Given the description of an element on the screen output the (x, y) to click on. 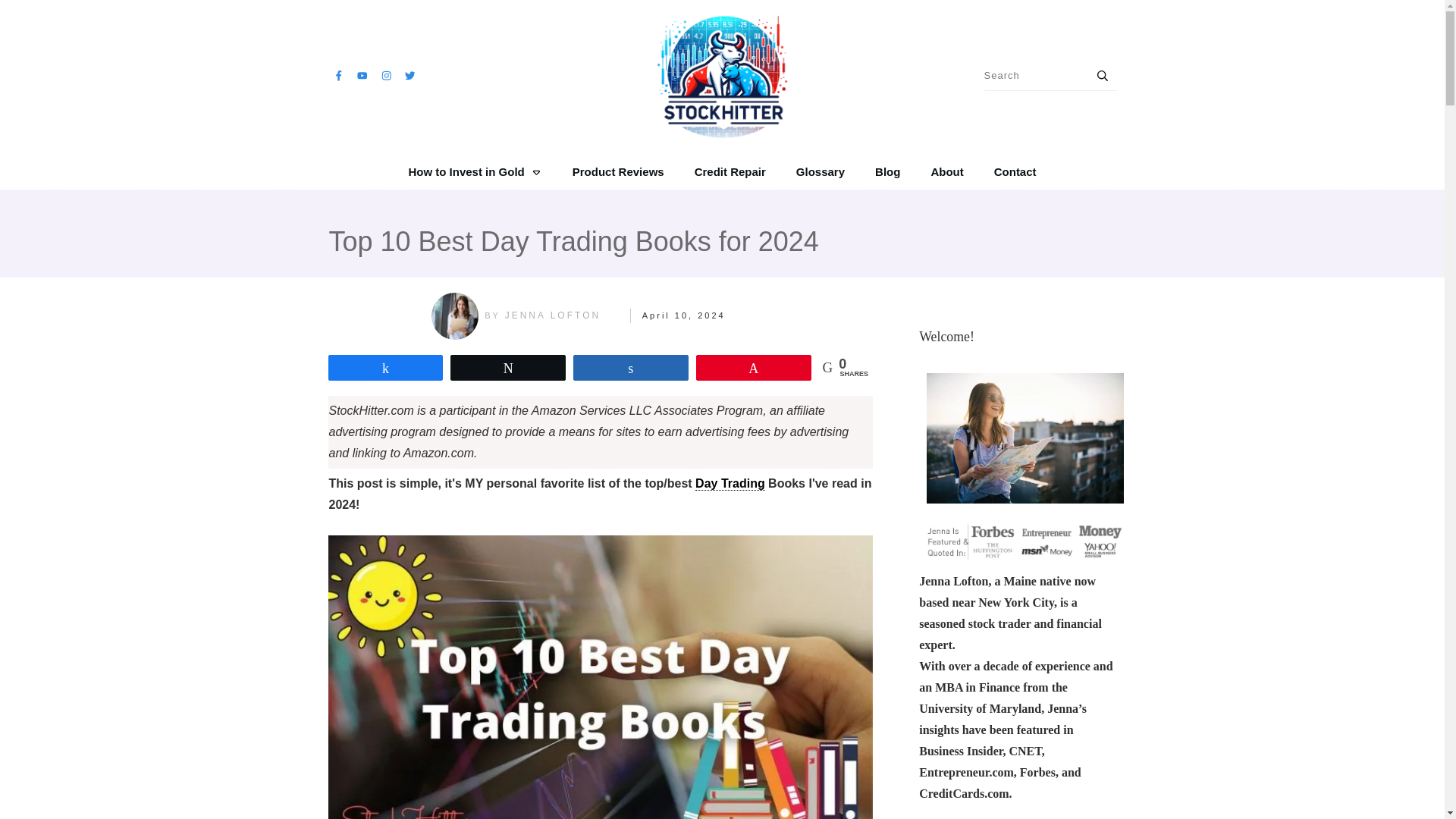
JENNA LOFTON (552, 315)
Credit Repair (729, 171)
Contact (1015, 171)
How to Invest in Gold (474, 171)
Day Trading (730, 483)
Product Reviews (617, 171)
About (946, 171)
Blog (887, 171)
Glossary (820, 171)
